Given the description of an element on the screen output the (x, y) to click on. 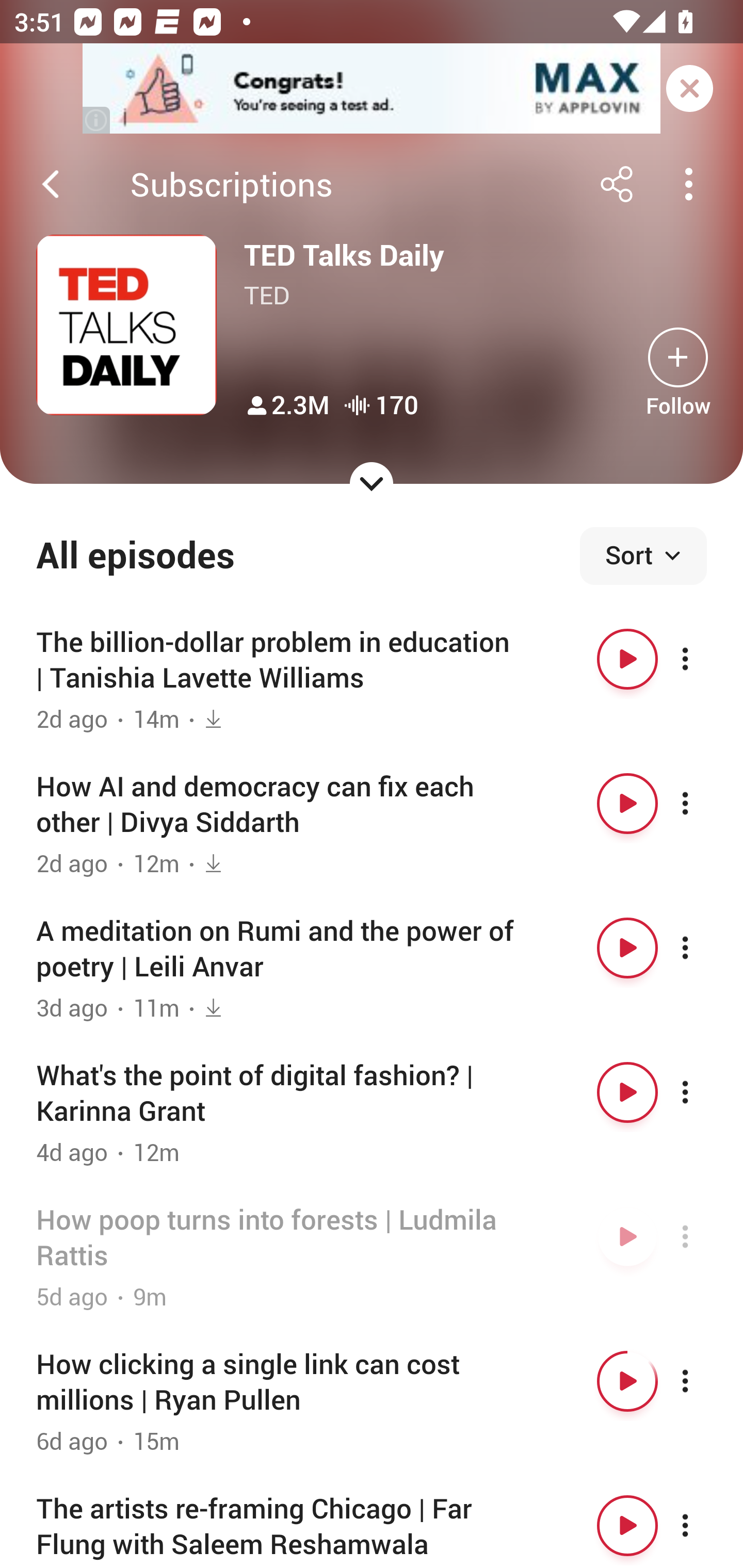
app-monetization (371, 88)
(i) (96, 119)
Back (50, 184)
Subscribe button (677, 357)
Sort episodes Sort (643, 555)
Play button (627, 659)
More options (703, 659)
Play button (627, 803)
More options (703, 803)
Play button (627, 947)
More options (703, 947)
Play button (627, 1092)
More options (703, 1092)
Play button (627, 1236)
More options (703, 1236)
Play button (627, 1381)
More options (703, 1381)
Play button (627, 1525)
More options (703, 1525)
